Given the description of an element on the screen output the (x, y) to click on. 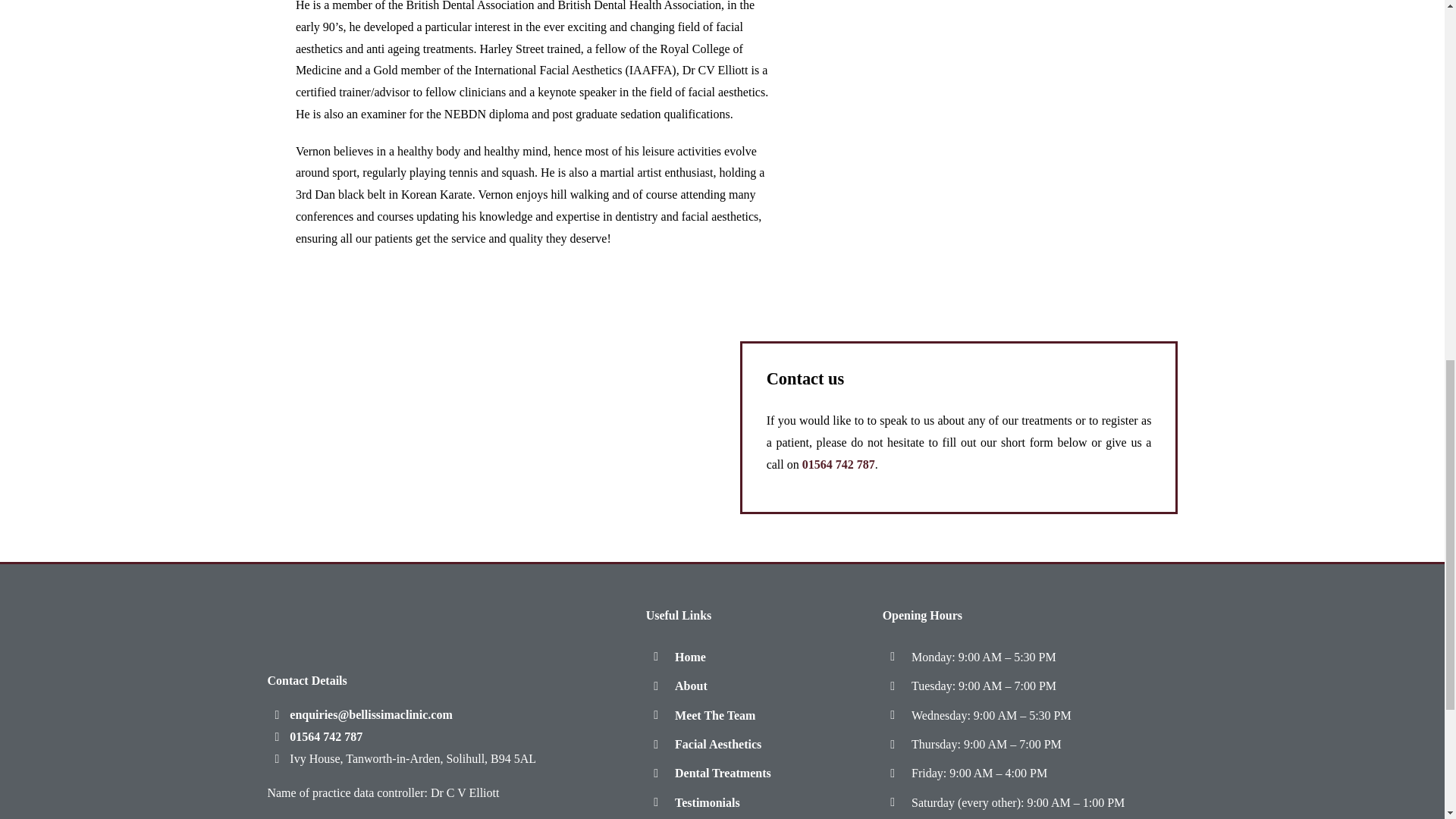
01564 742 787 (314, 736)
01564 742 787 (838, 463)
